Given the description of an element on the screen output the (x, y) to click on. 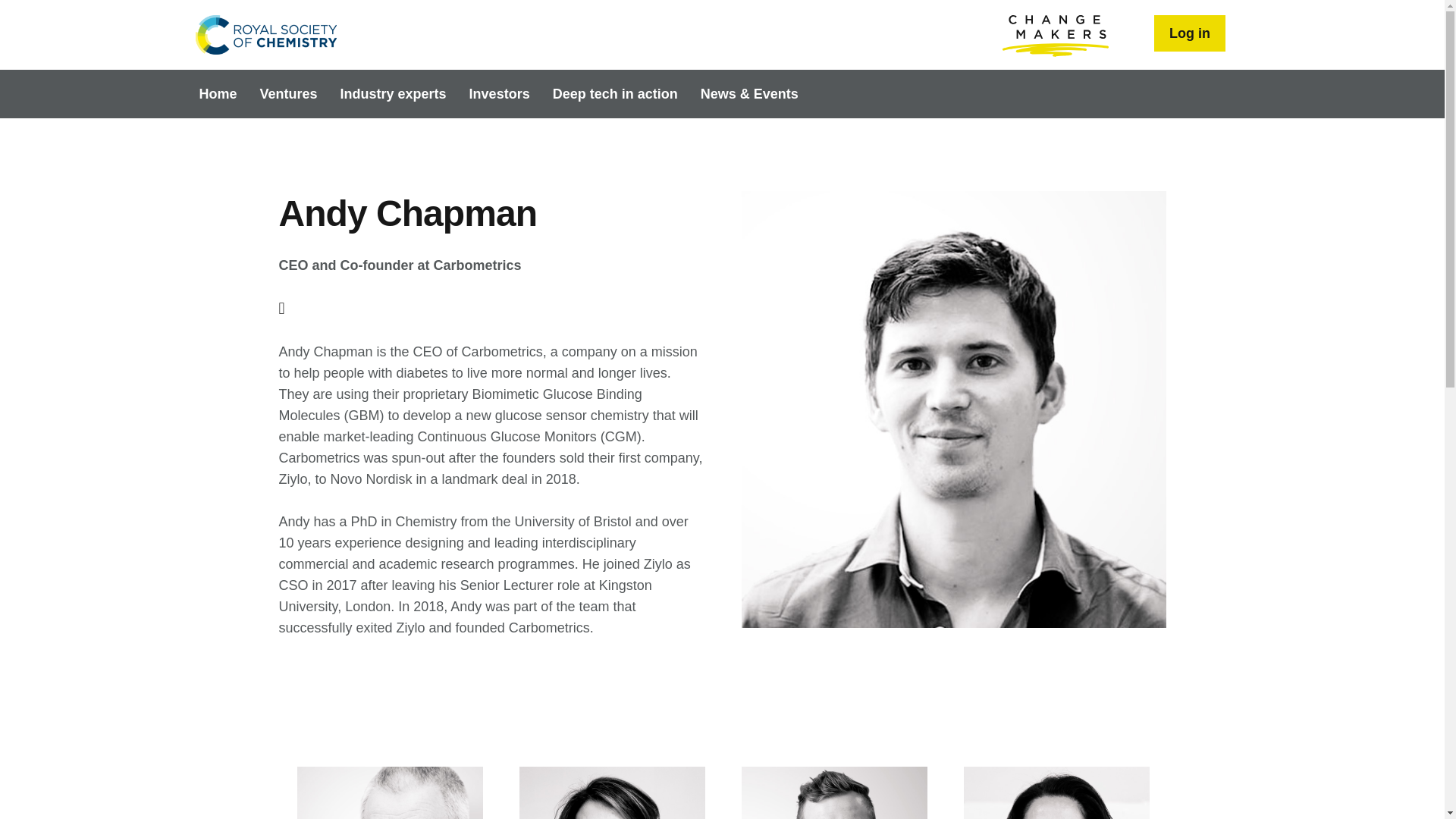
Home (265, 34)
Deep tech in action (614, 93)
Log in (1189, 33)
Link to Royal Society of Chemistry homepage (265, 34)
Investors (499, 93)
Home (217, 93)
Industry experts (393, 93)
Ventures (288, 93)
